Given the description of an element on the screen output the (x, y) to click on. 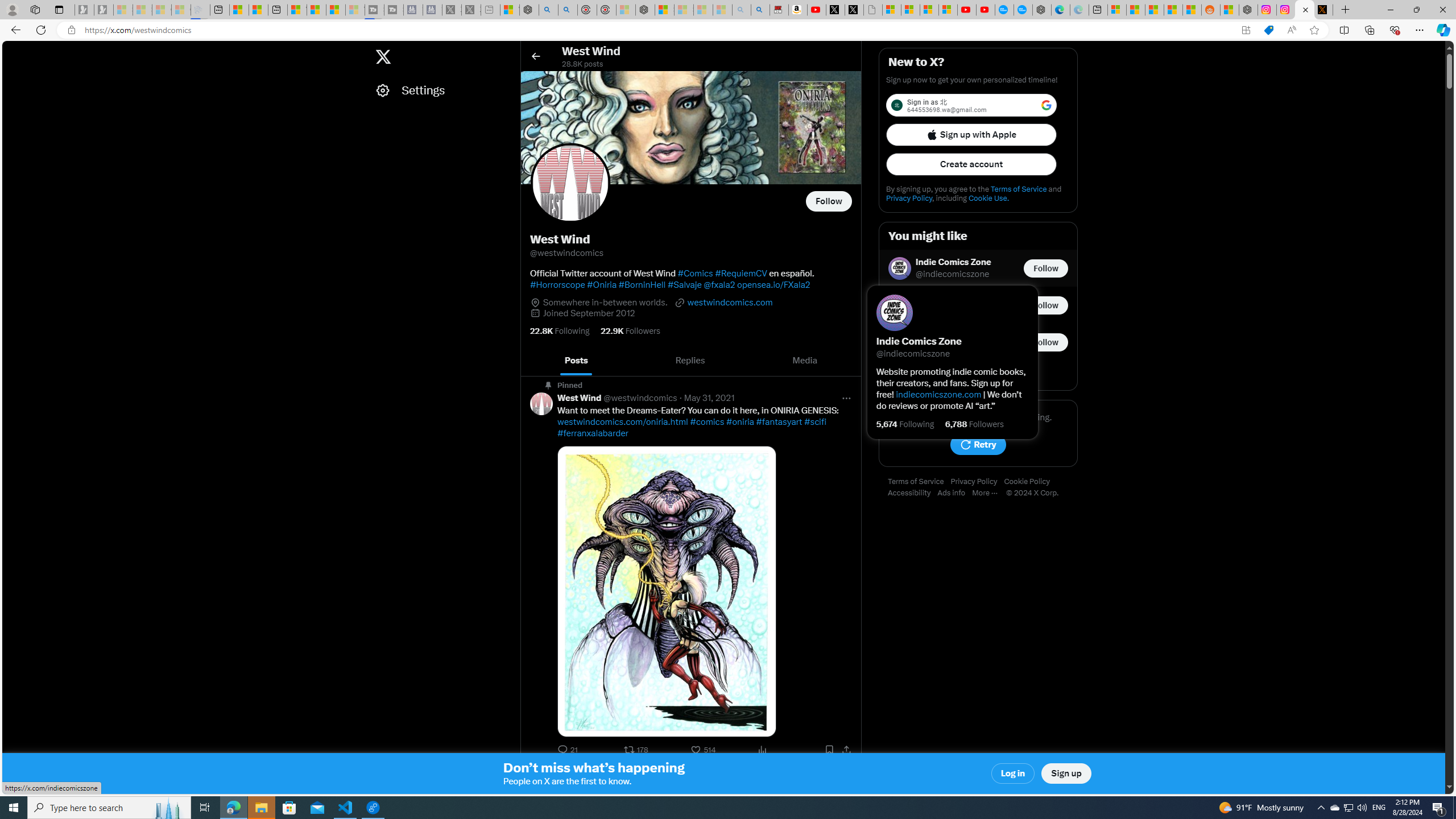
Skip to home timeline (12, 50)
Indie Comics Zone (953, 262)
The most popular Google 'how to' searches (1022, 9)
Shanghai, China Weather trends | Microsoft Weather (1192, 9)
Follow @westwindcomics (828, 201)
Image (666, 591)
